Given the description of an element on the screen output the (x, y) to click on. 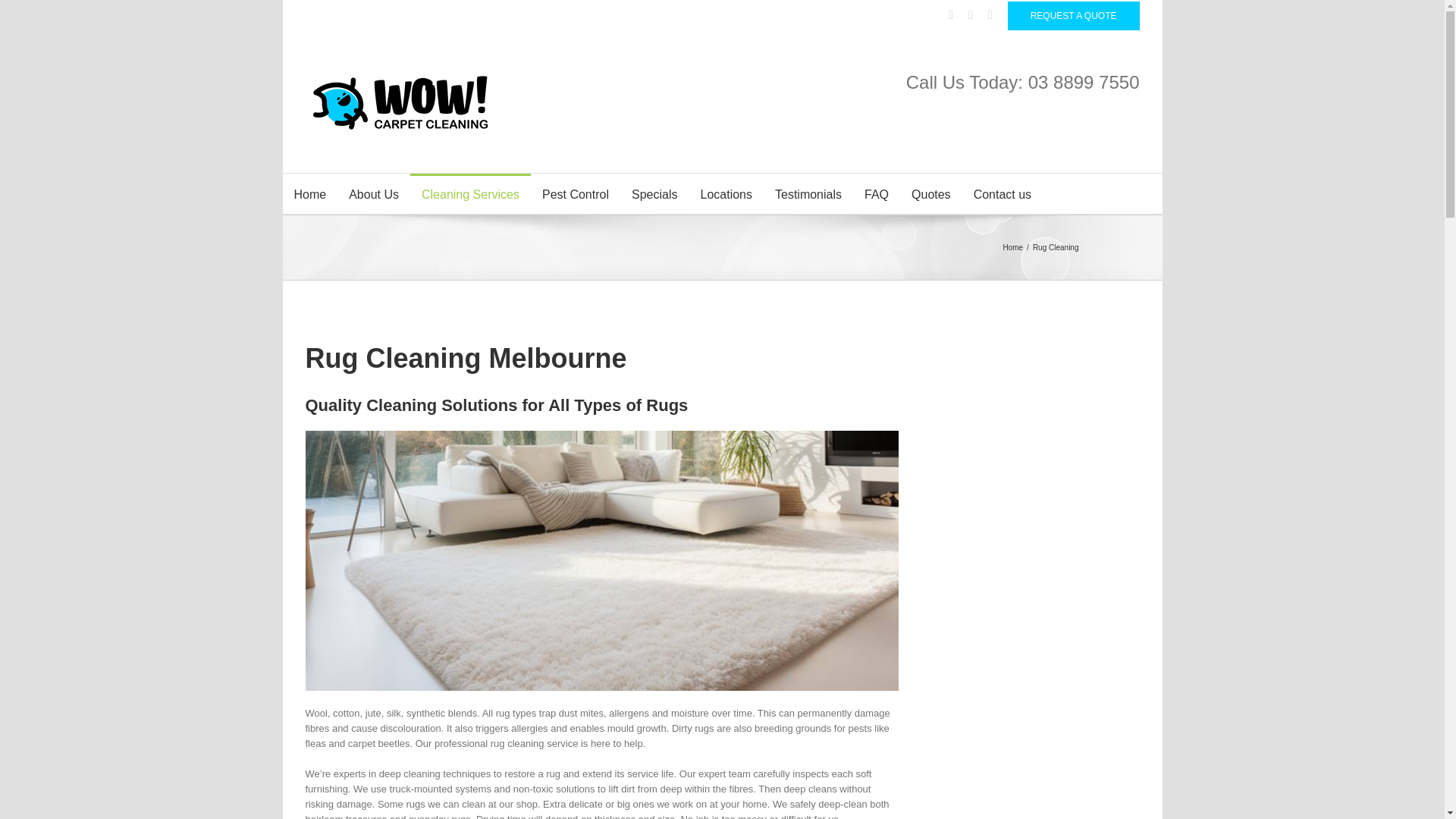
Carpet Cleaning Melbourne (309, 193)
Carpet Cleaning Deals (654, 193)
Services (470, 193)
Areas We Service (725, 193)
Pest Control (575, 193)
Reviews (807, 193)
About Us (373, 193)
REQUEST A QUOTE (1073, 15)
Contact us (1002, 193)
Locations (725, 193)
Pest Control (575, 193)
Quotes (930, 193)
Frequently Asked Questions (876, 193)
Cleaning Services (470, 193)
About WOW Carpet Cleaning Melbourne (373, 193)
